Given the description of an element on the screen output the (x, y) to click on. 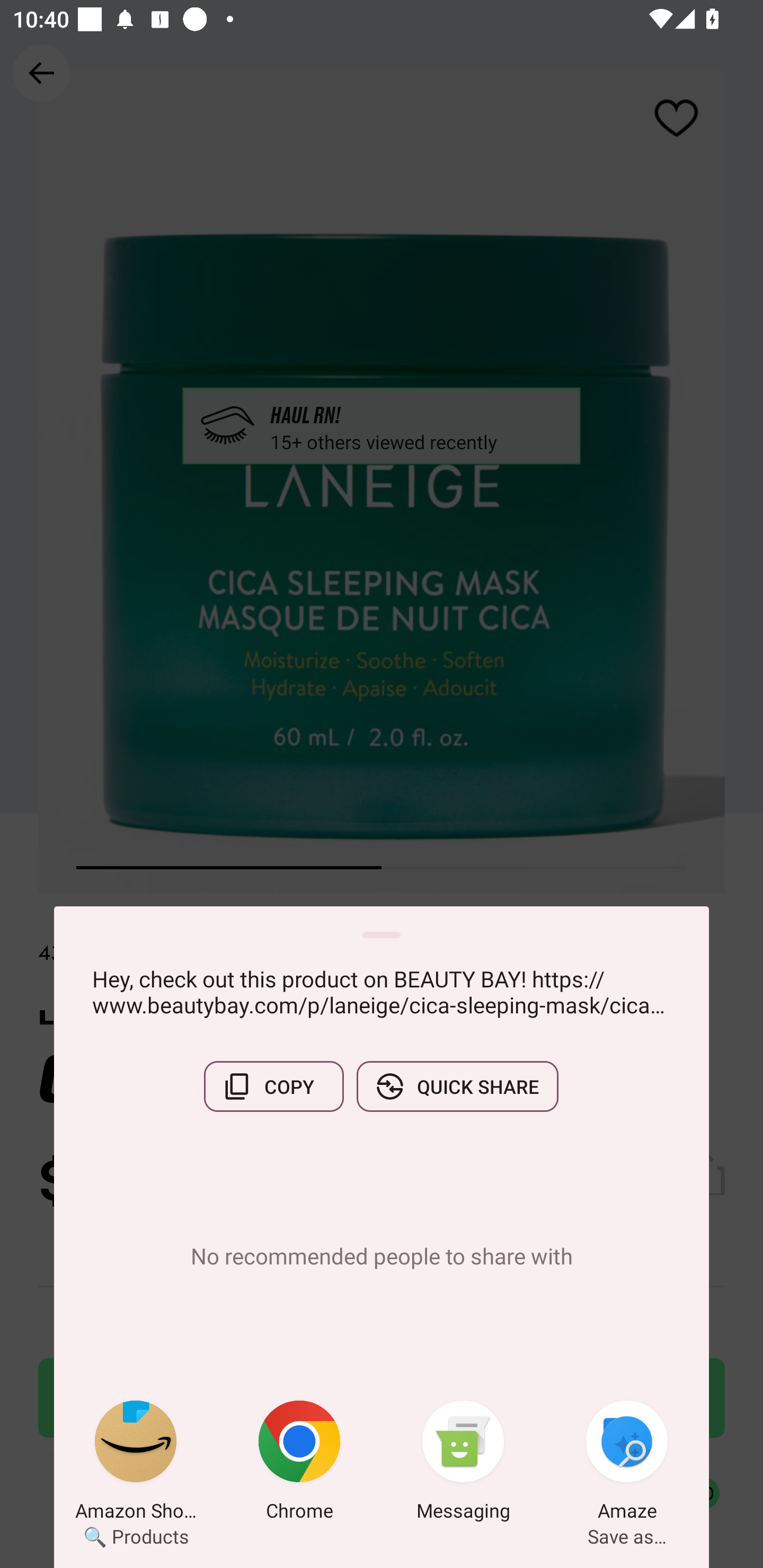
COPY (273, 1086)
QUICK SHARE (457, 1086)
Amazon Shopping 🔍 Products (135, 1463)
Chrome (299, 1463)
Messaging (463, 1463)
Amaze Save as… (626, 1463)
